Given the description of an element on the screen output the (x, y) to click on. 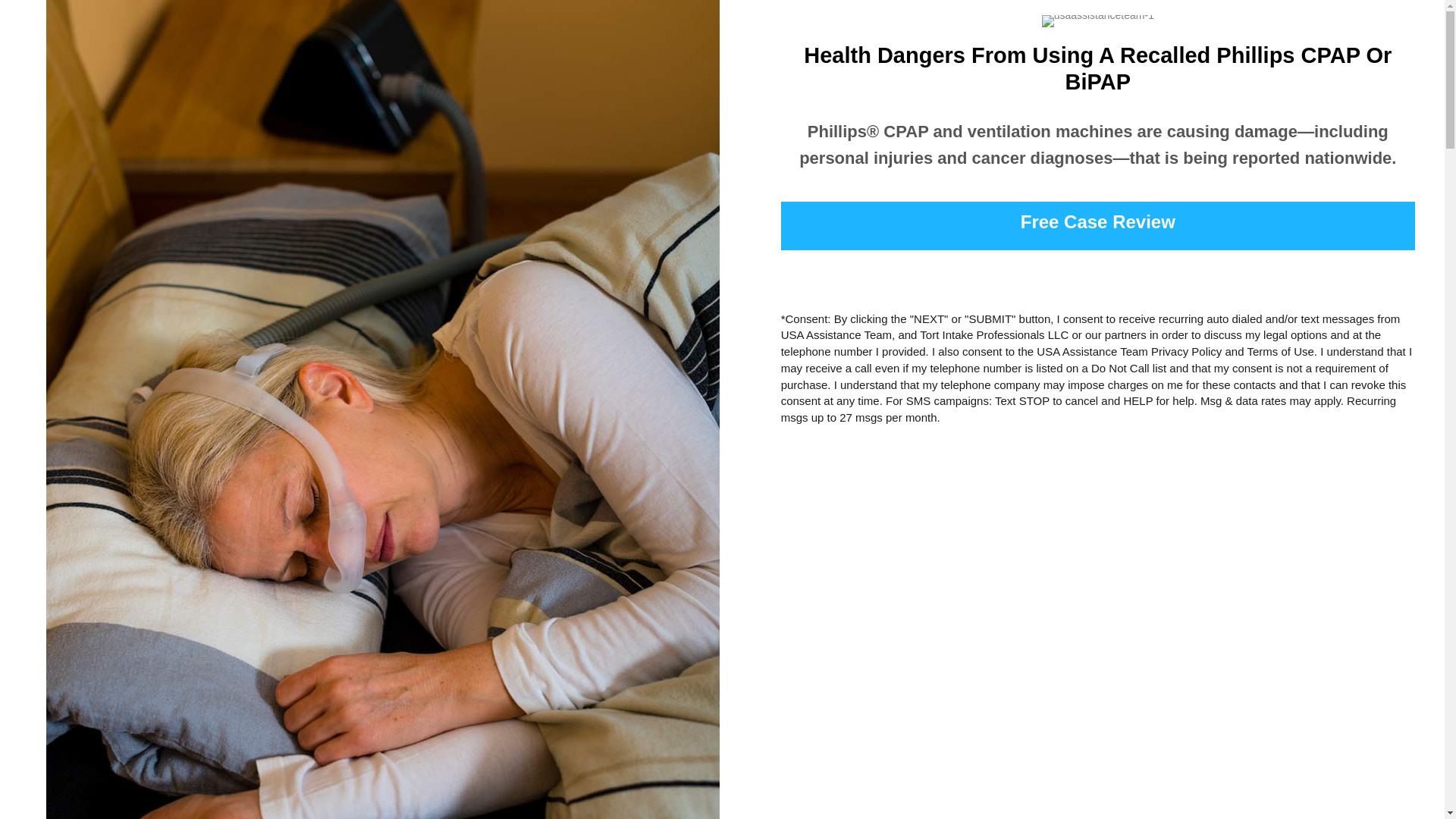
Terms of Use (1279, 350)
Privacy Policy (1186, 350)
usaassistanceteam-1 (1098, 21)
